Given the description of an element on the screen output the (x, y) to click on. 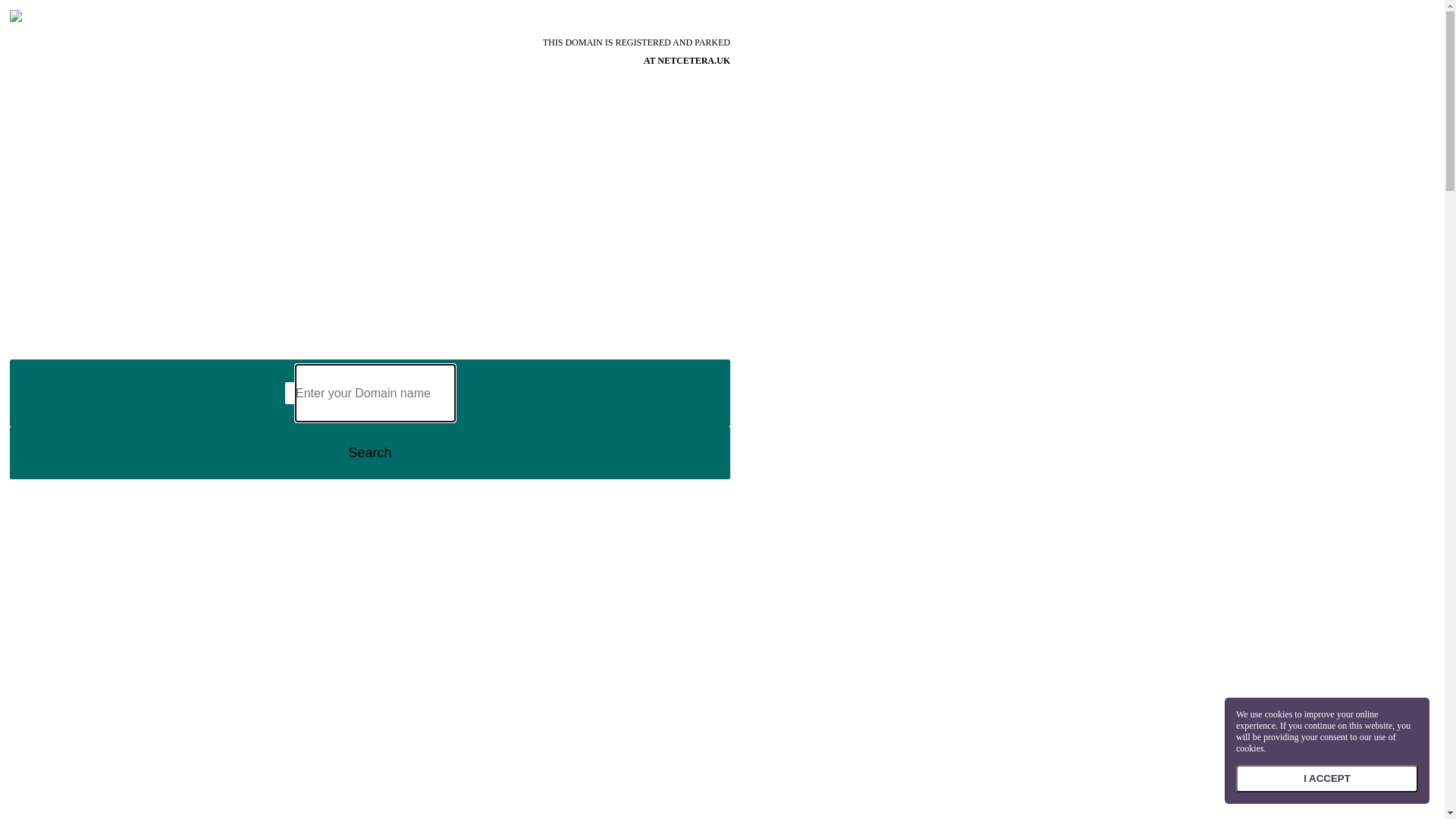
Search Element type: text (369, 452)
I ACCEPT Element type: text (1327, 778)
